Given the description of an element on the screen output the (x, y) to click on. 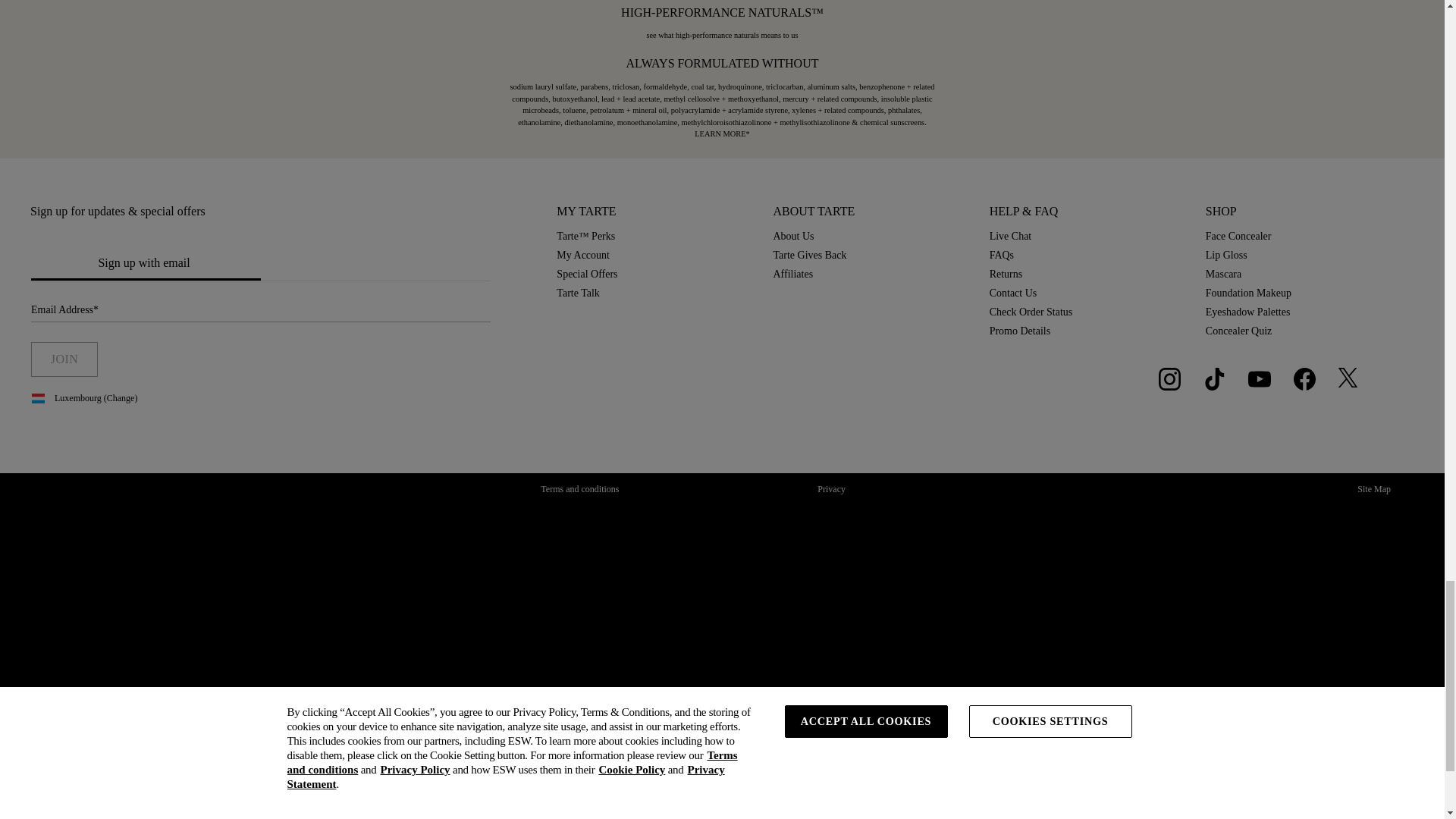
Go to Contact Us (1013, 292)
Go to Frequently Asked Questions (1001, 255)
Go to Frequently Asked Questions (1006, 274)
